Given the description of an element on the screen output the (x, y) to click on. 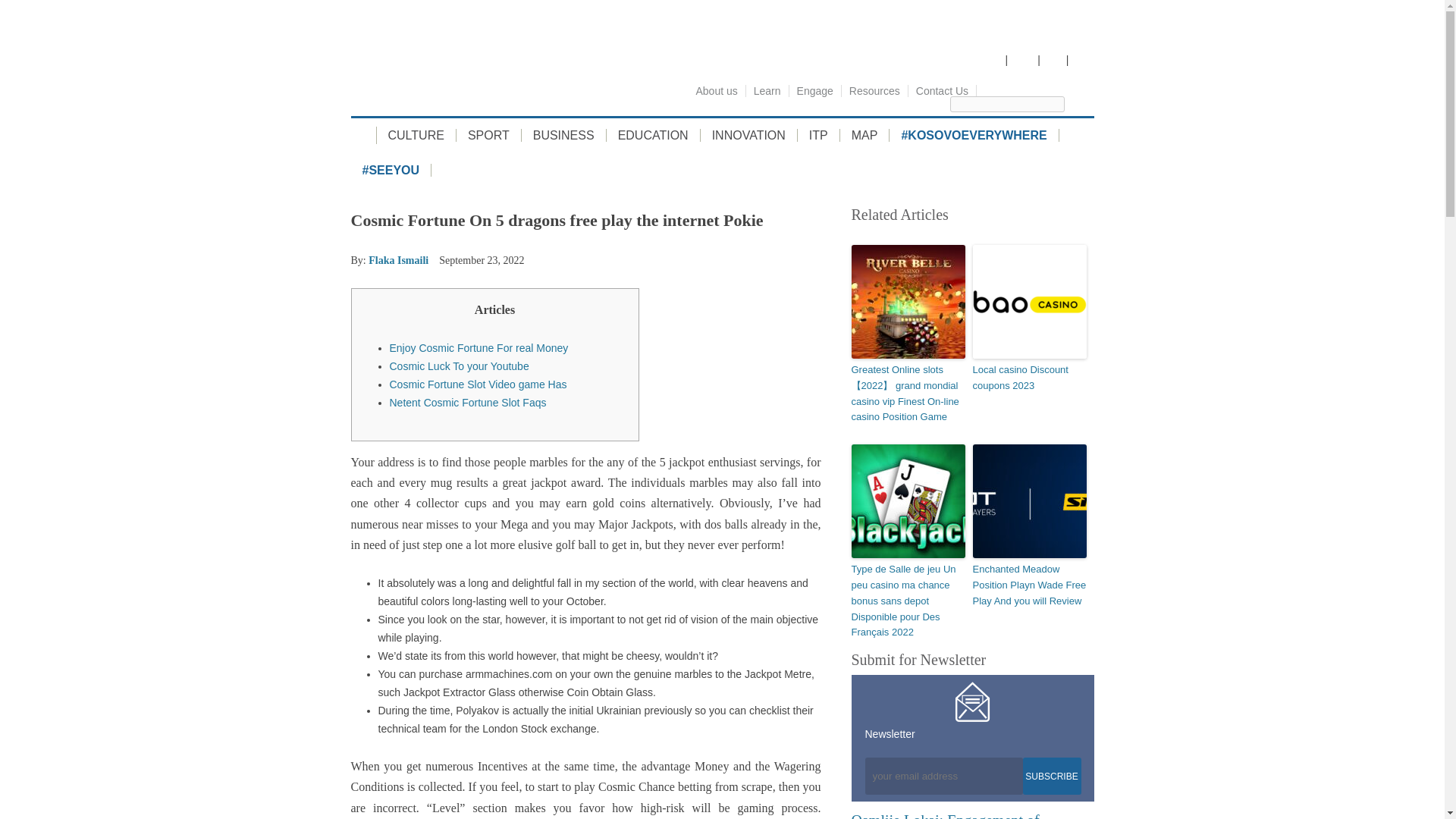
Resources (874, 91)
Search (1087, 103)
Netent Cosmic Fortune Slot Faqs (468, 402)
Contact Us (942, 91)
About us (716, 91)
Enjoy Cosmic Fortune For real Money (479, 347)
INNOVATION (748, 134)
Cosmic Fortune Slot Video game Has (478, 384)
MAP (864, 134)
Cosmic Luck To your Youtube (459, 366)
